Given the description of an element on the screen output the (x, y) to click on. 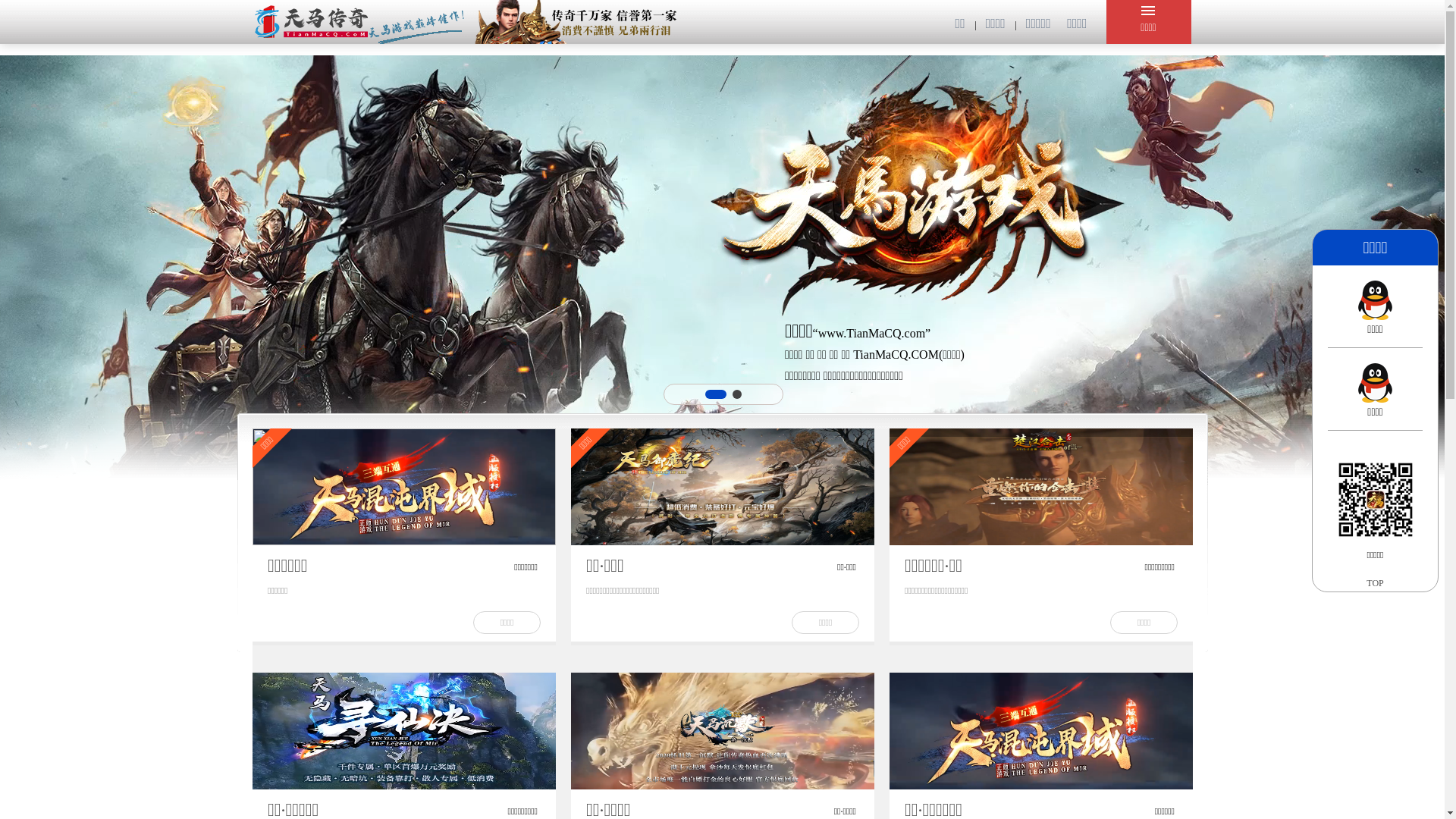
TOP Element type: text (1374, 582)
